Given the description of an element on the screen output the (x, y) to click on. 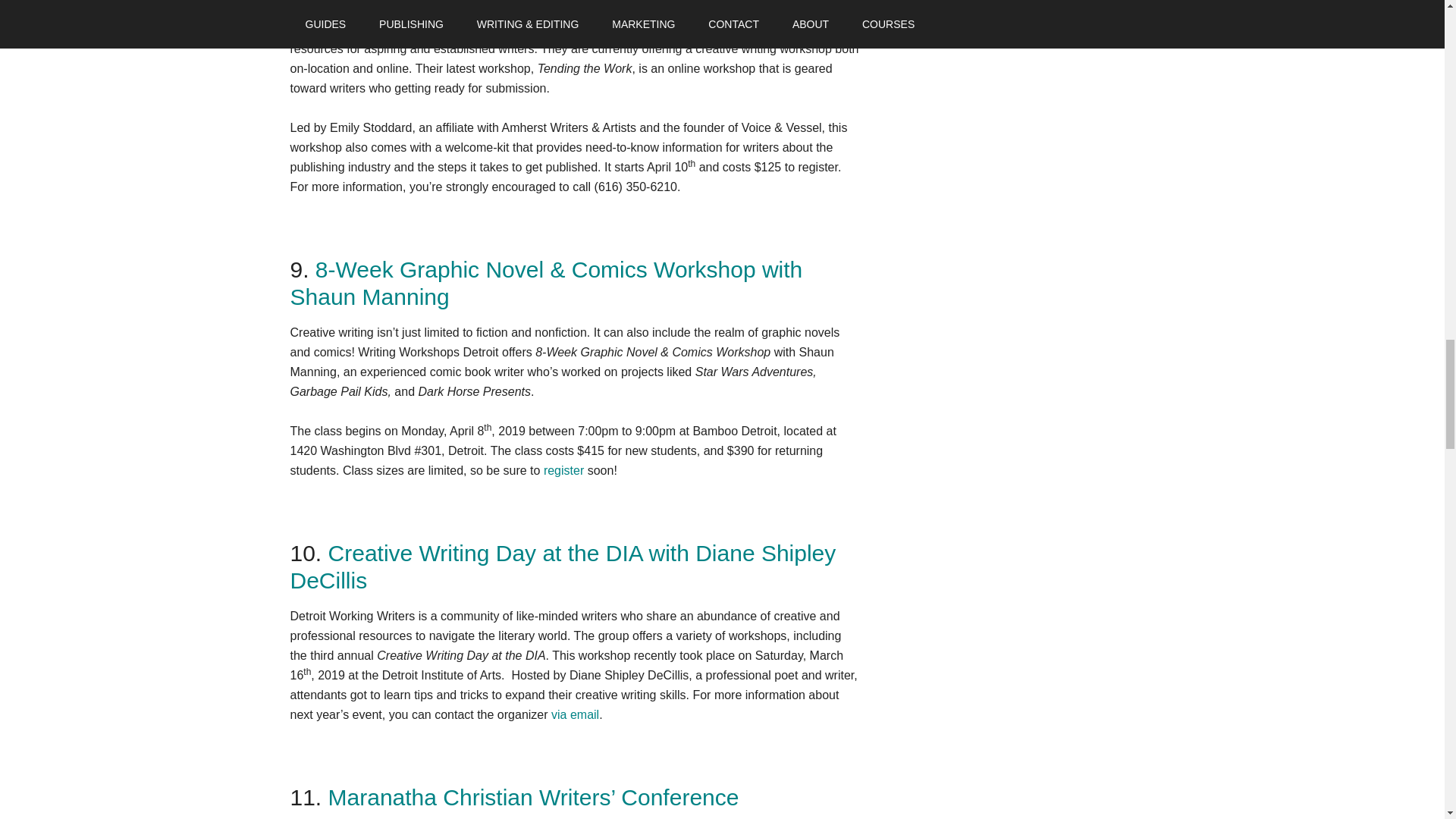
Creative Writing Day at the DIA with Diane Shipley DeCillis (562, 566)
register (563, 470)
via email (574, 714)
